Given the description of an element on the screen output the (x, y) to click on. 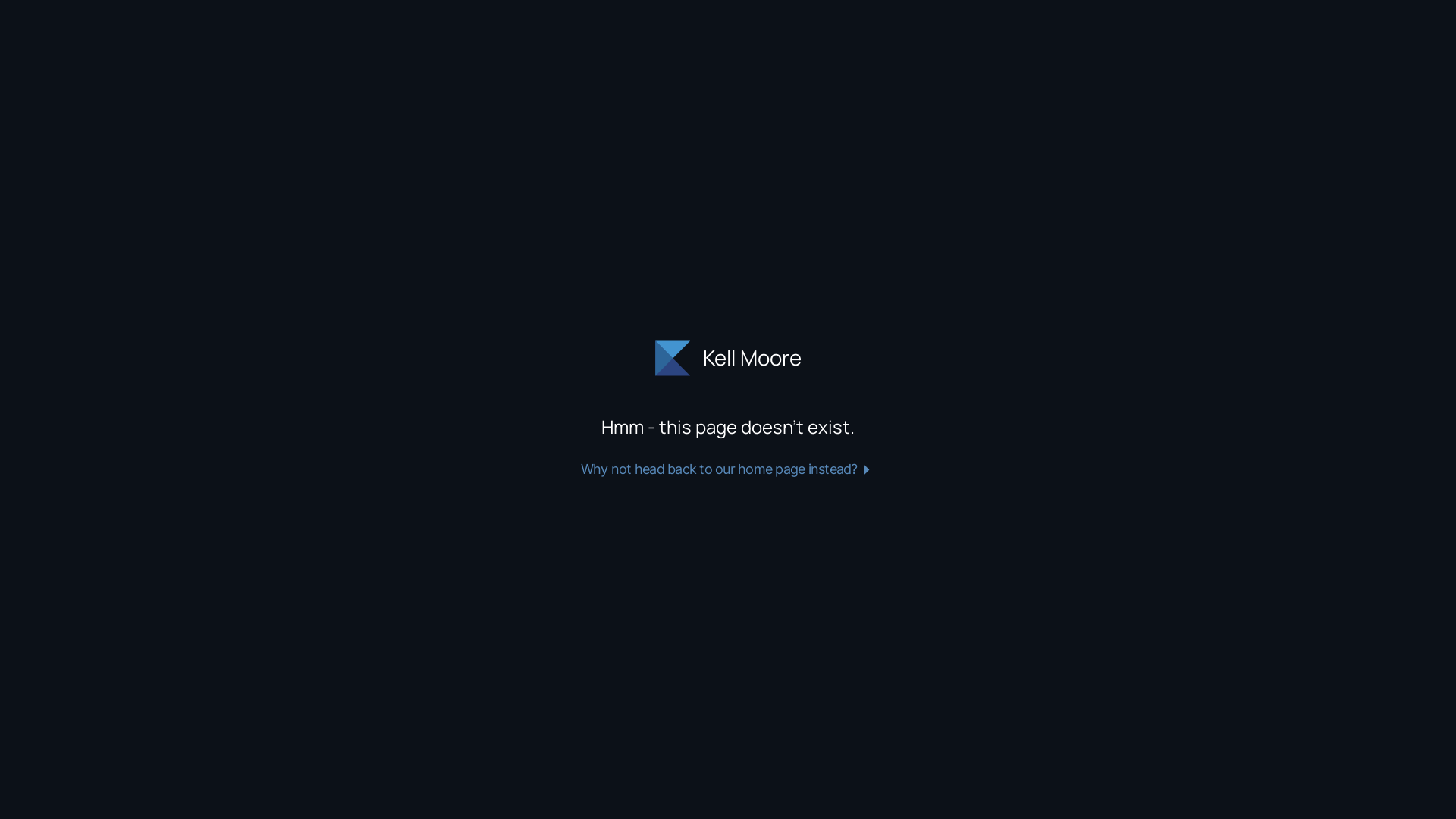
Why not head back to our home page instead? Element type: text (727, 469)
